Given the description of an element on the screen output the (x, y) to click on. 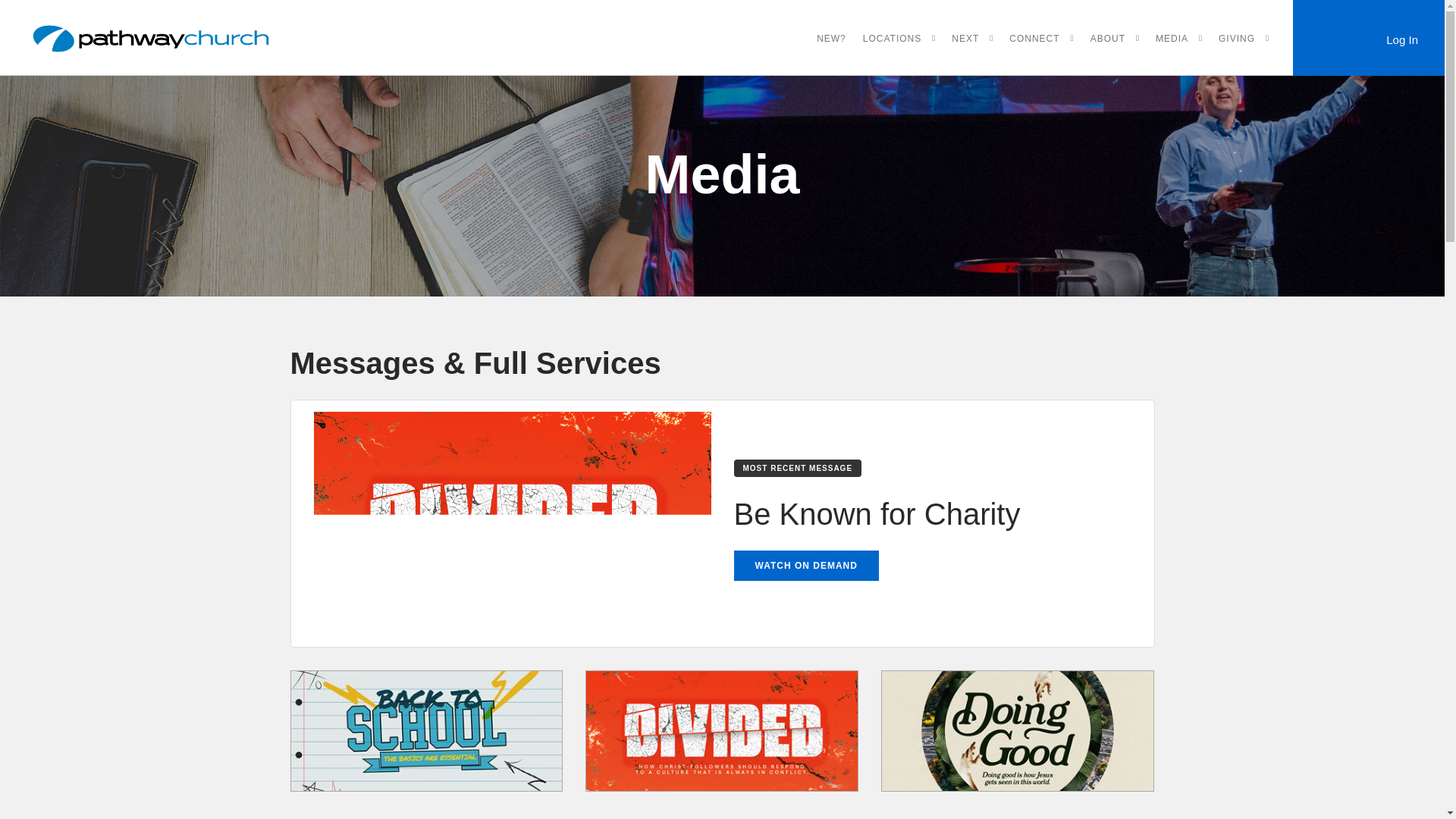
NEW? (830, 38)
MEDIA (1172, 38)
NEXT (965, 38)
LOCATIONS (892, 38)
ABOUT (1107, 38)
Log In (1368, 39)
CONNECT (1034, 38)
